Given the description of an element on the screen output the (x, y) to click on. 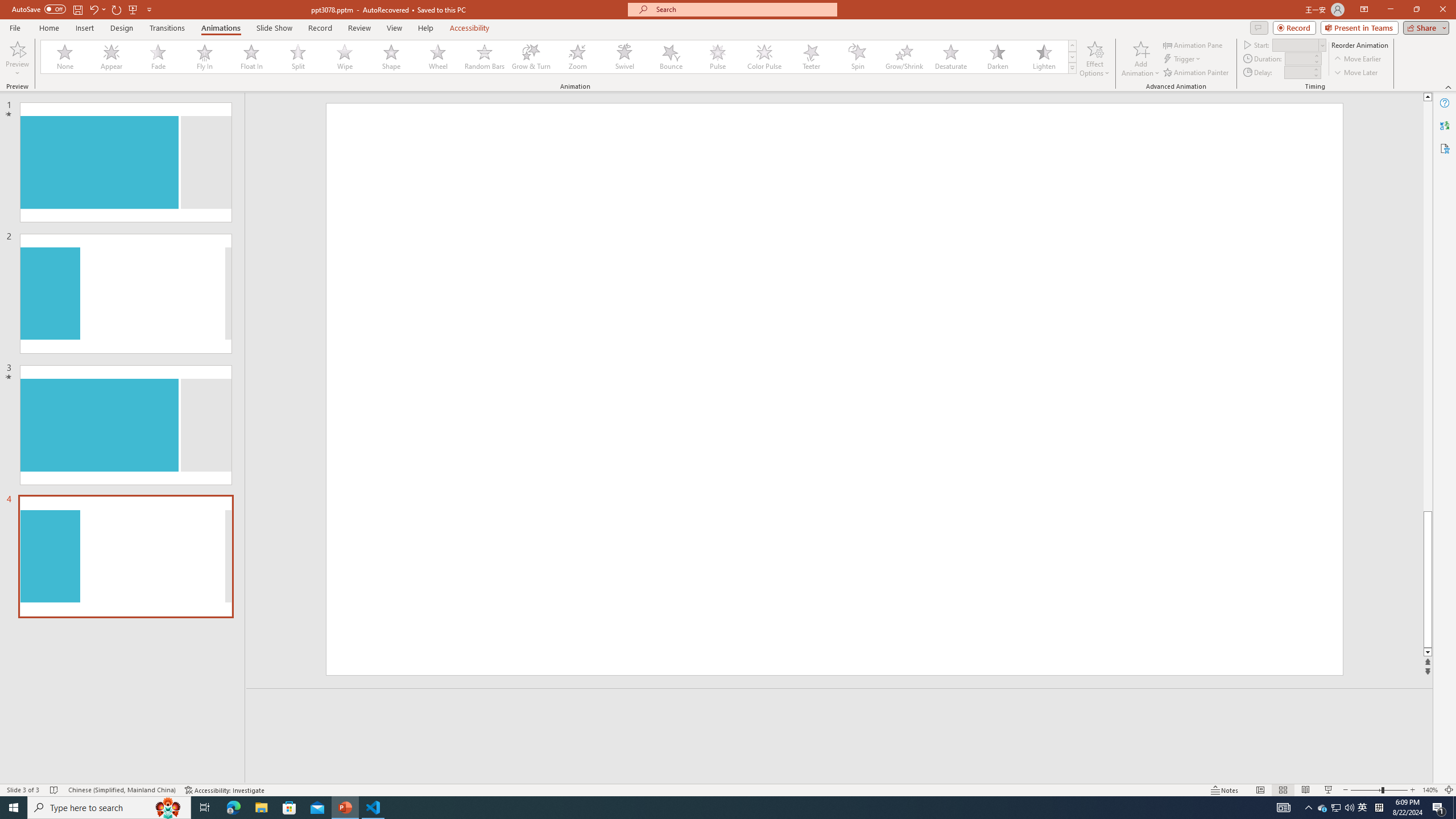
Preview (17, 58)
Desaturate (950, 56)
Effect Options (1094, 58)
Grow/Shrink (903, 56)
Animation Painter (1196, 72)
